Given the description of an element on the screen output the (x, y) to click on. 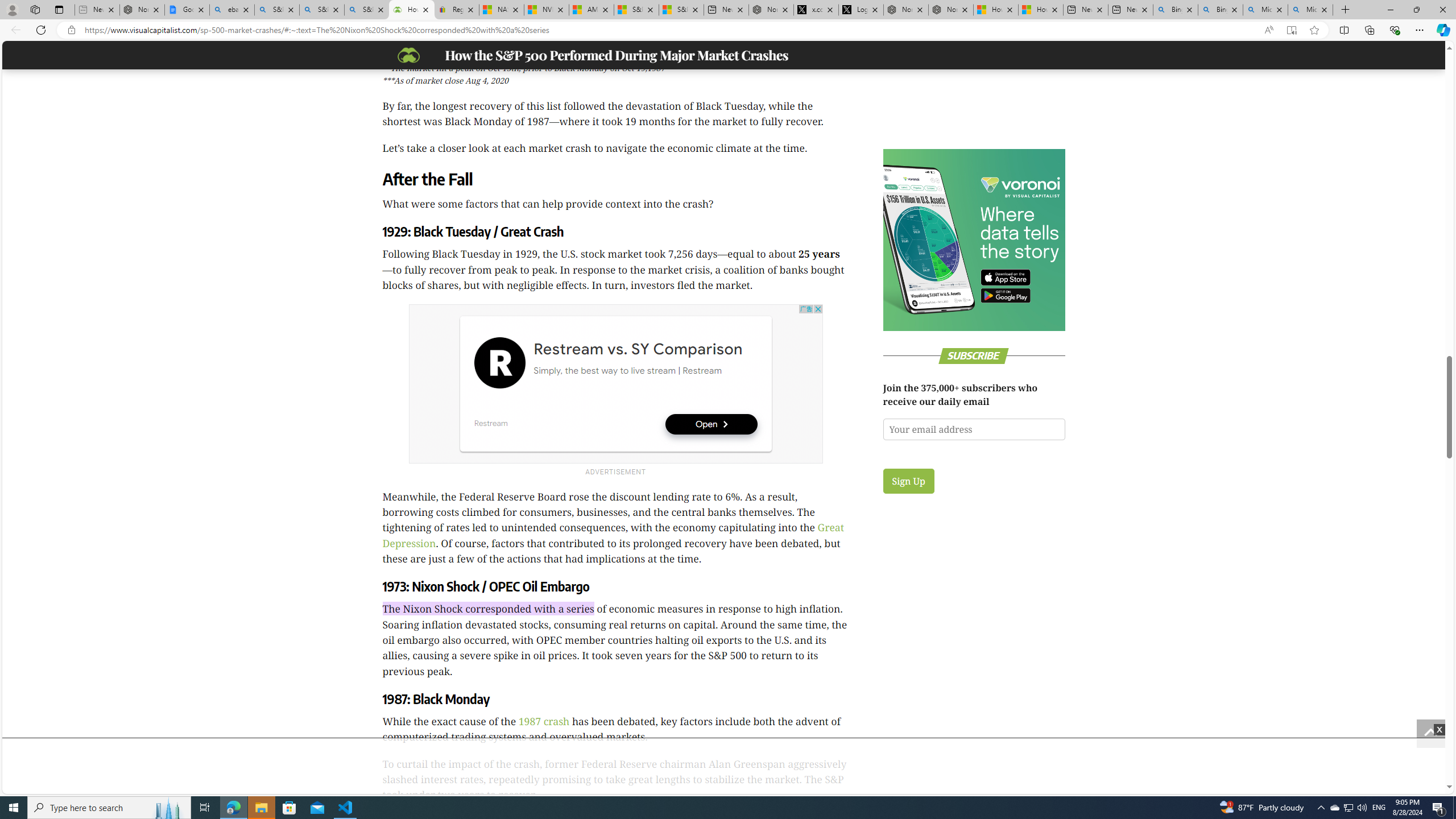
S&P 500, Nasdaq end lower, weighed by Nvidia dip | Watch (681, 9)
Enter Immersive Reader (F9) (1291, 29)
Restream vs. SY Comparison (637, 349)
Privacy (1425, 180)
Open (711, 423)
Bing AI - Search (1220, 9)
